Given the description of an element on the screen output the (x, y) to click on. 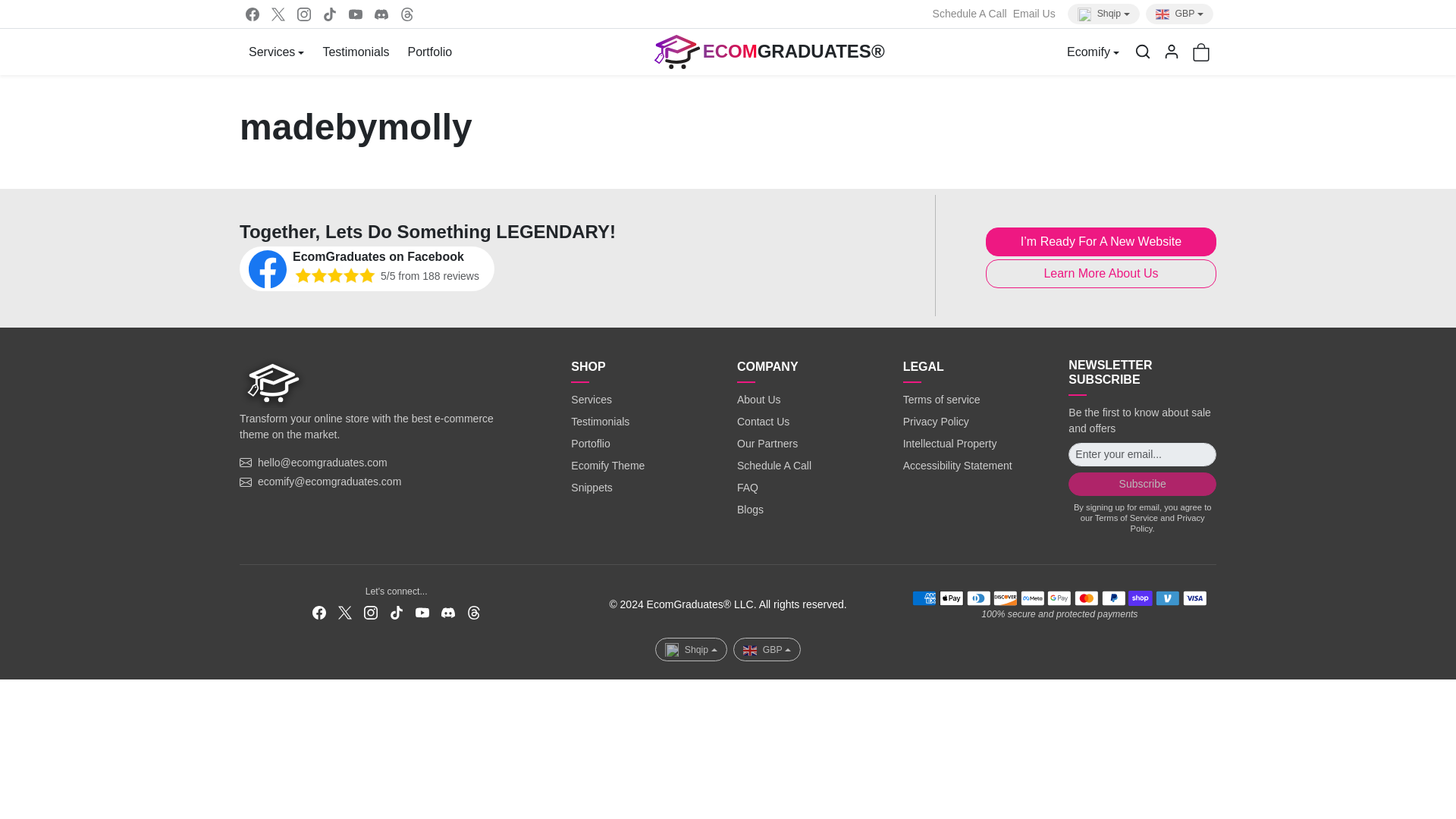
Threads (407, 14)
X (277, 14)
Schedule A Call (970, 13)
Facebook (252, 14)
Instagram (304, 14)
YouTube (355, 14)
GBP (1178, 13)
Email Us (1034, 13)
Tiktok (329, 14)
Shqip (1103, 13)
